Given the description of an element on the screen output the (x, y) to click on. 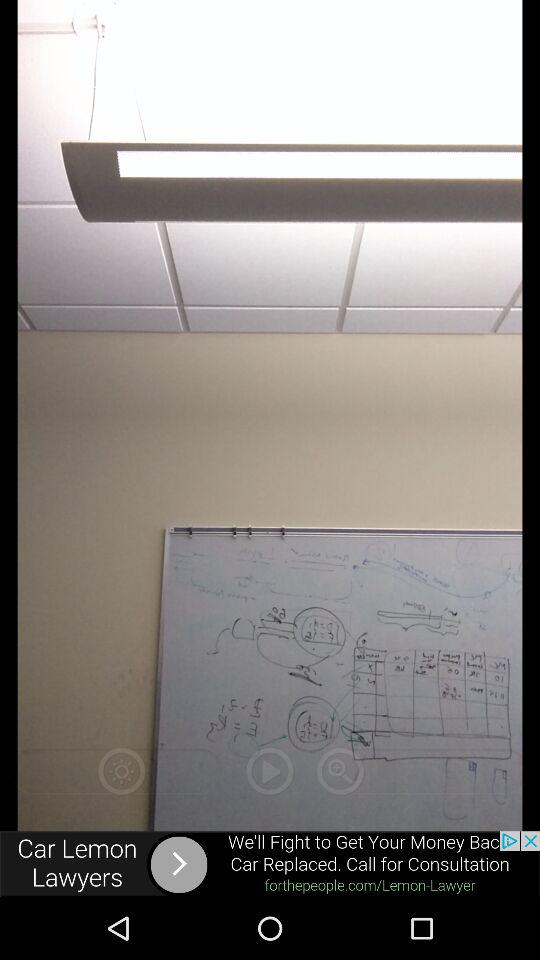
view forthepeople.com/lemon-lawyer site page (270, 864)
